Given the description of an element on the screen output the (x, y) to click on. 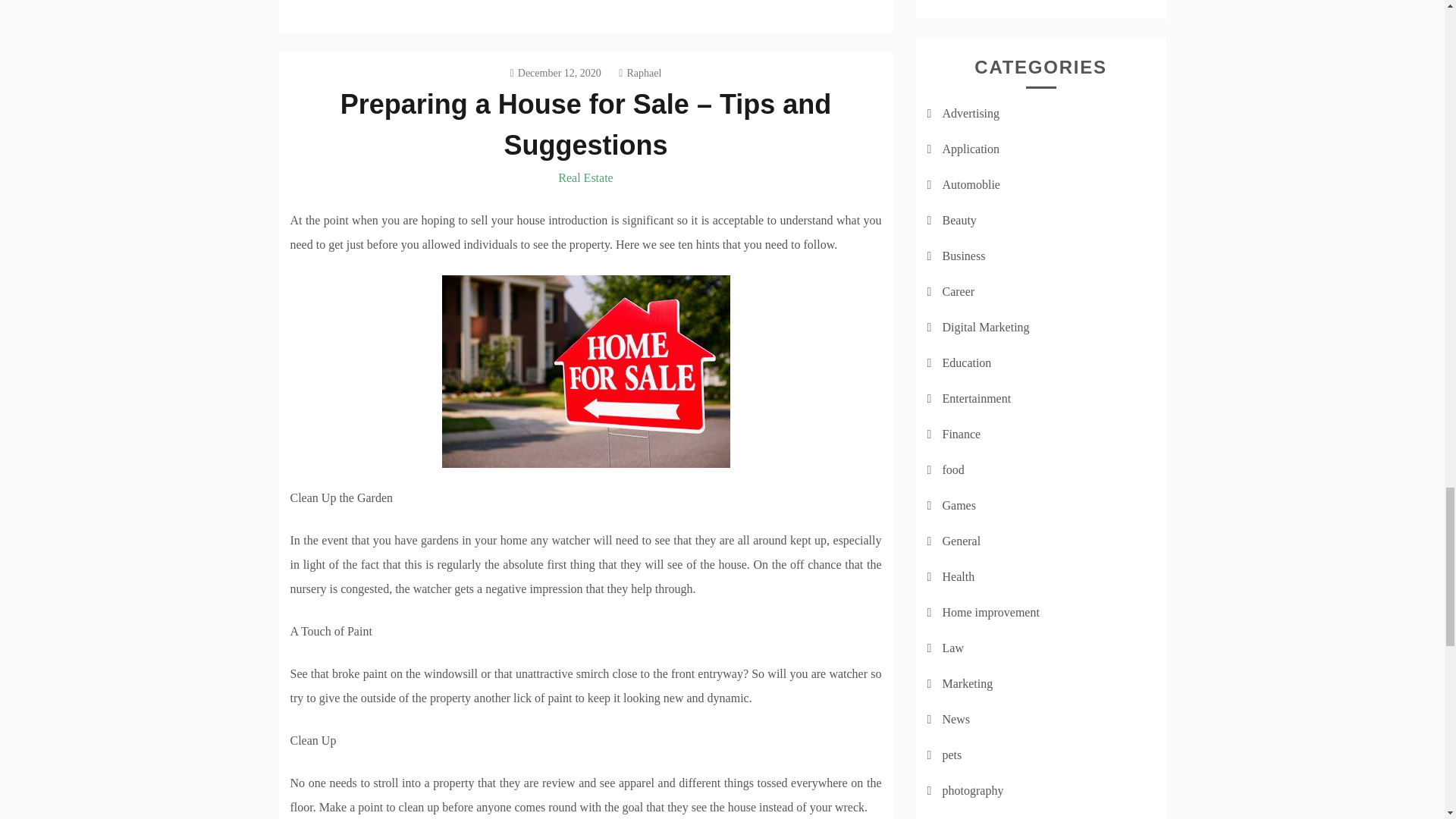
Raphael (639, 72)
December 12, 2020 (556, 72)
Real Estate (584, 177)
